Given the description of an element on the screen output the (x, y) to click on. 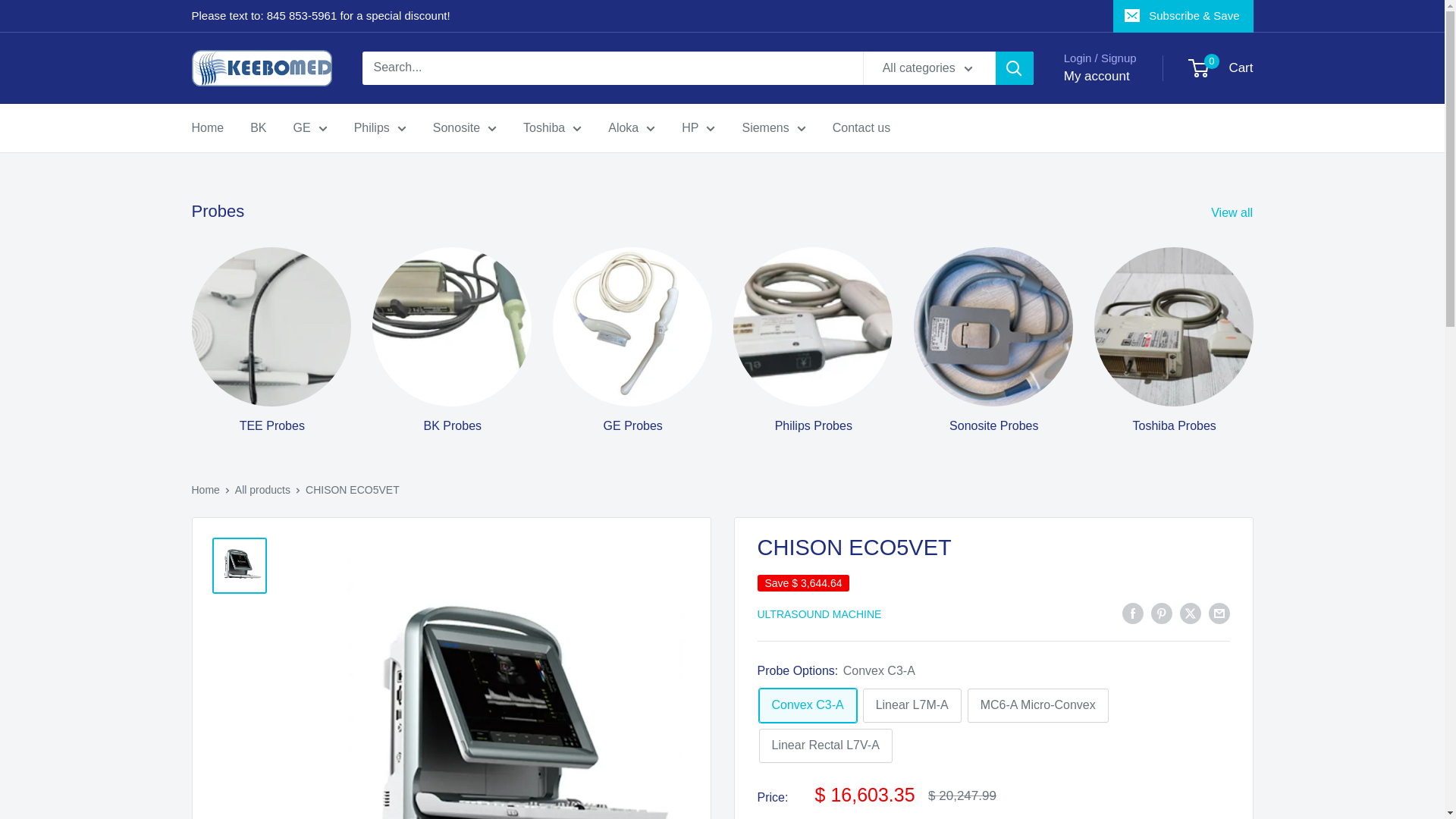
Linear Rectal L7V-A (824, 745)
Convex C3-A (807, 705)
MC6-A Micro-Convex (1038, 705)
Linear L7M-A (911, 705)
